Given the description of an element on the screen output the (x, y) to click on. 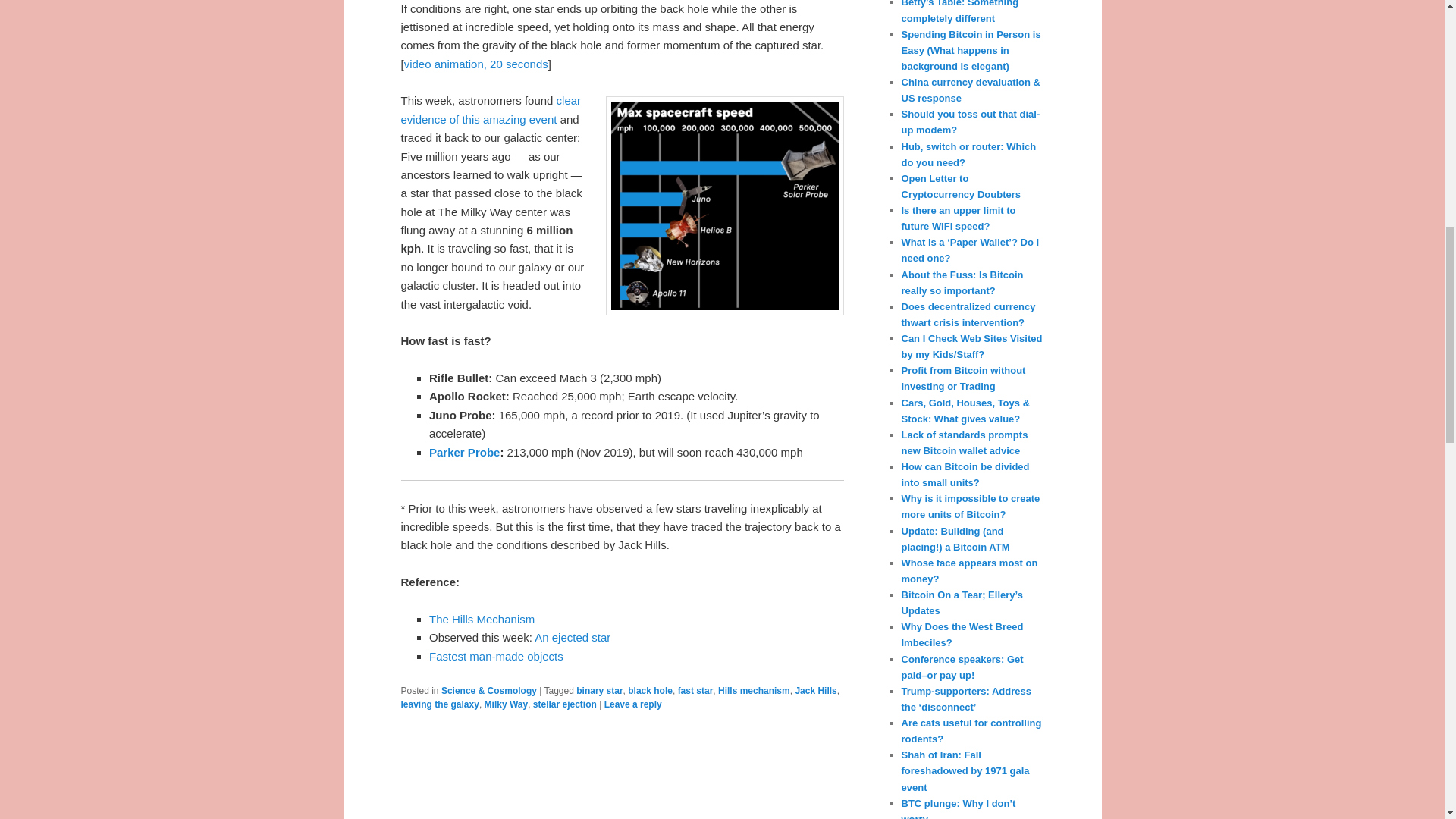
leaving the galaxy (439, 704)
An ejected star (572, 636)
binary star (599, 690)
fast star (695, 690)
Leave a reply (633, 704)
stellar ejection (564, 704)
video animation, 20 seconds (476, 63)
Jack Hills (814, 690)
Parker Probe (464, 451)
black hole (649, 690)
Fastest man-made objects (496, 656)
clear evidence of this amazing event (490, 109)
Milky Way (506, 704)
Hills mechanism (753, 690)
The Hills Mechanism (481, 618)
